Given the description of an element on the screen output the (x, y) to click on. 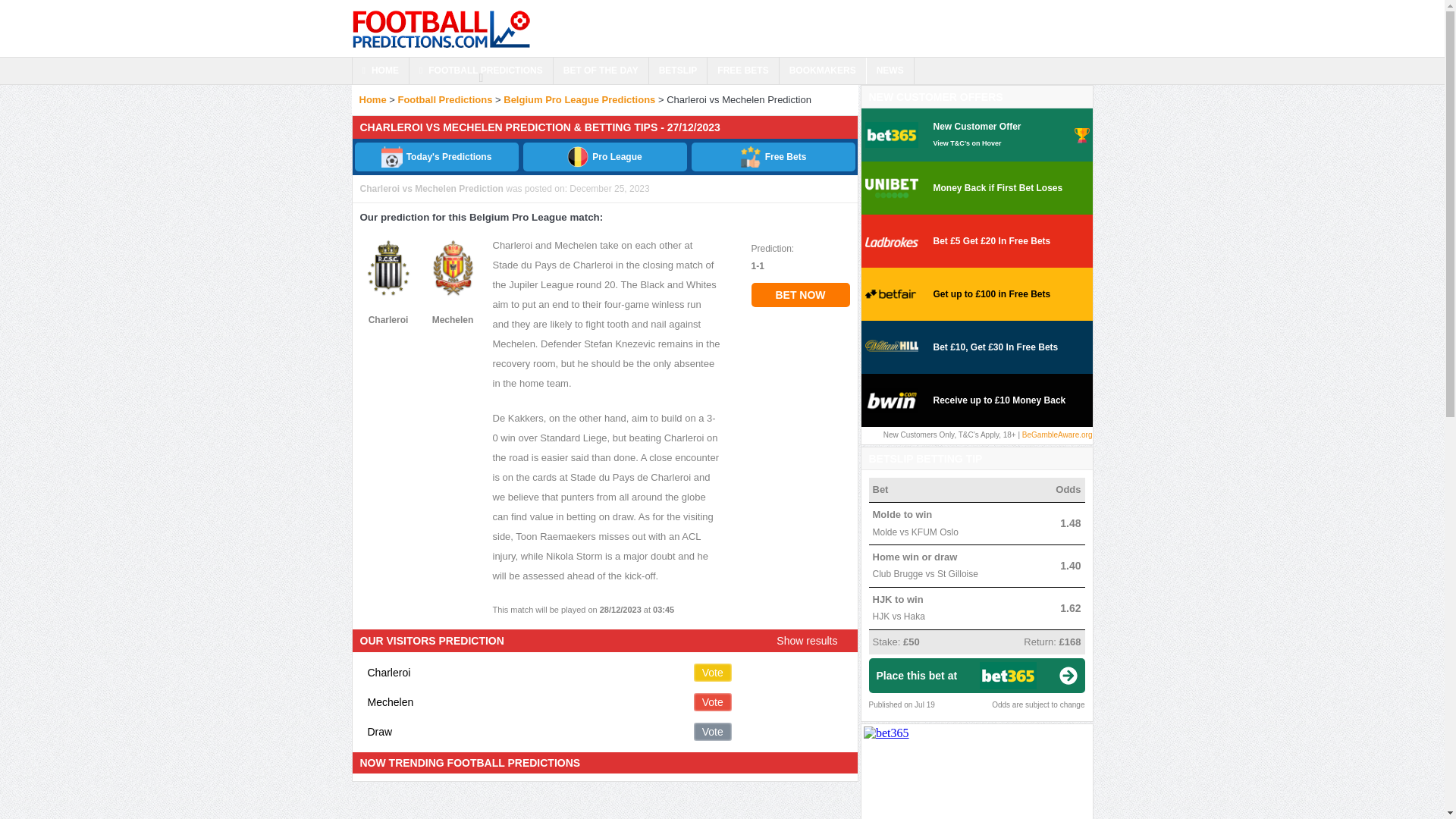
FOOTBALL PREDICTIONS (481, 70)
HOME (379, 70)
